Given the description of an element on the screen output the (x, y) to click on. 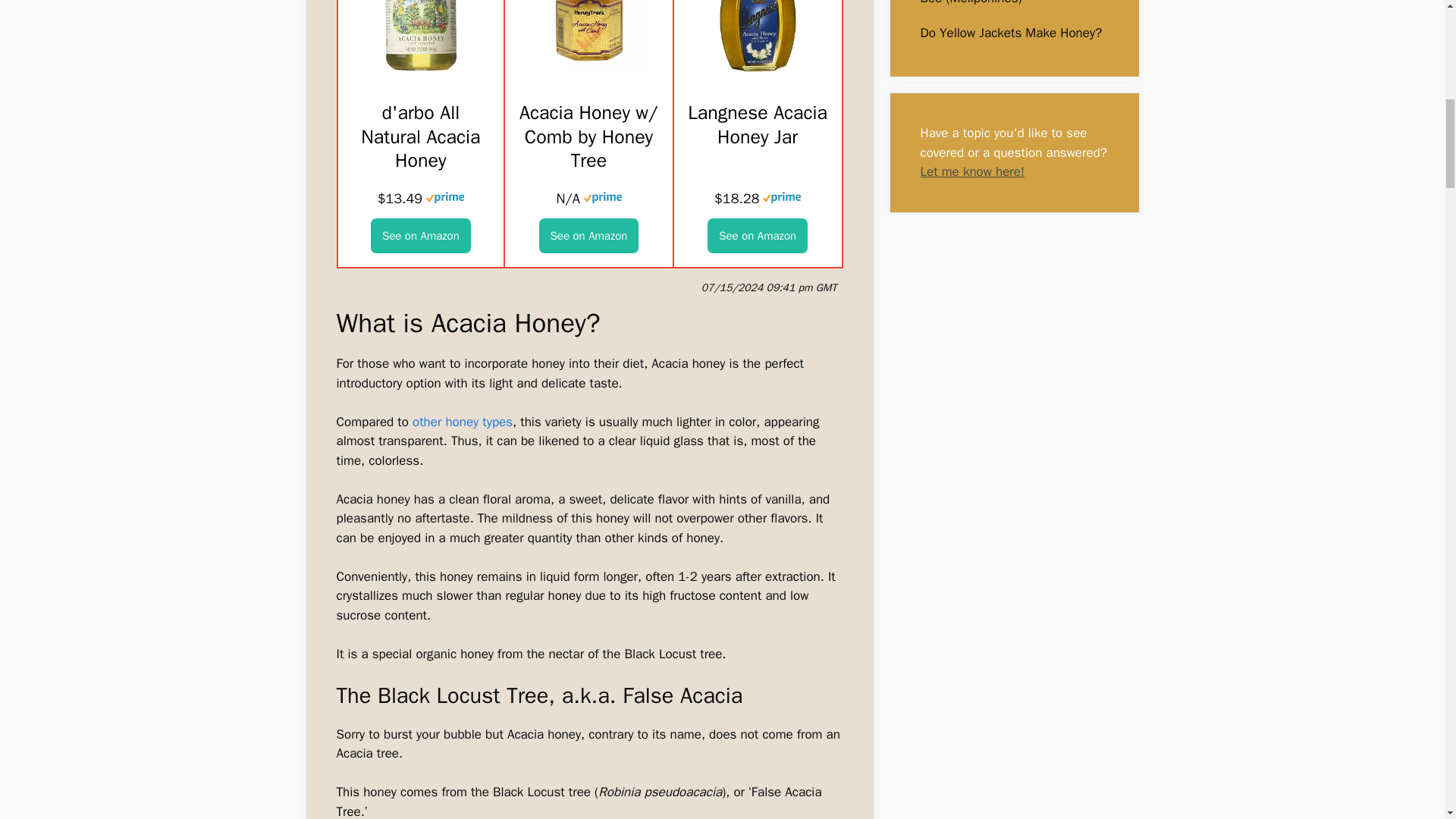
d'arbo All Natural Acacia Honey, 17.6 Ounce (420, 135)
Langnese Acacia Honey Jar (757, 68)
d'arbo All Natural Acacia Honey, 17.6 Ounce (420, 68)
Langnese Acacia Honey Jar (757, 124)
Acacia Honey With Comb by the Honey Tree (588, 235)
Langnese Acacia Honey Jar (757, 235)
Acacia Honey With Comb by the Honey Tree (588, 68)
d'arbo All Natural Acacia Honey, 17.6 Ounce (420, 235)
Acacia Honey With Comb by the Honey Tree (588, 135)
